Given the description of an element on the screen output the (x, y) to click on. 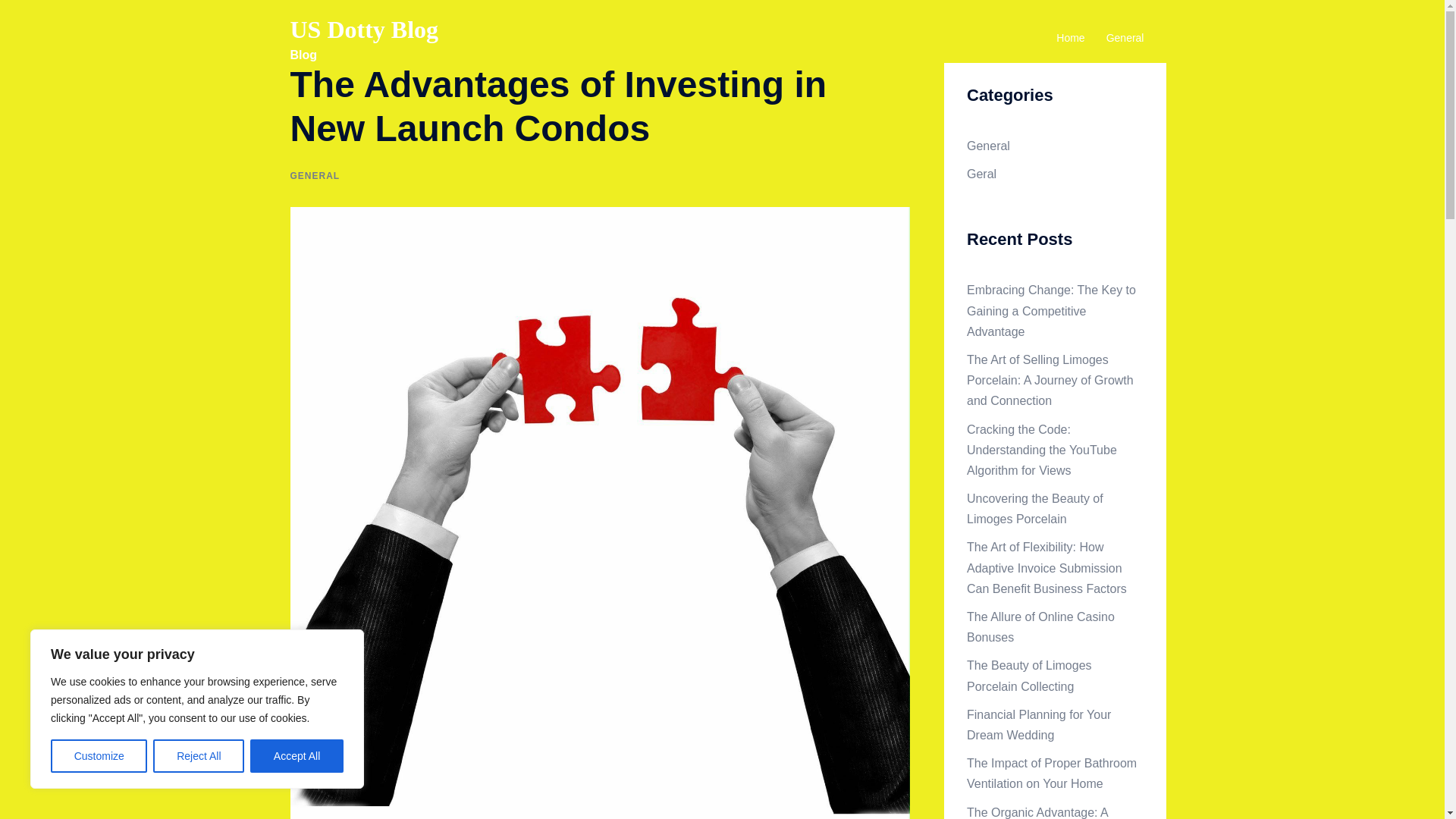
Accept All (296, 756)
Home (1070, 38)
Customize (98, 756)
GENERAL (314, 175)
Reject All (198, 756)
Embracing Change: The Key to Gaining a Competitive Advantage (1050, 310)
General (1125, 38)
Uncovering the Beauty of Limoges Porcelain (1034, 508)
Financial Planning for Your Dream Wedding (1038, 725)
